Given the description of an element on the screen output the (x, y) to click on. 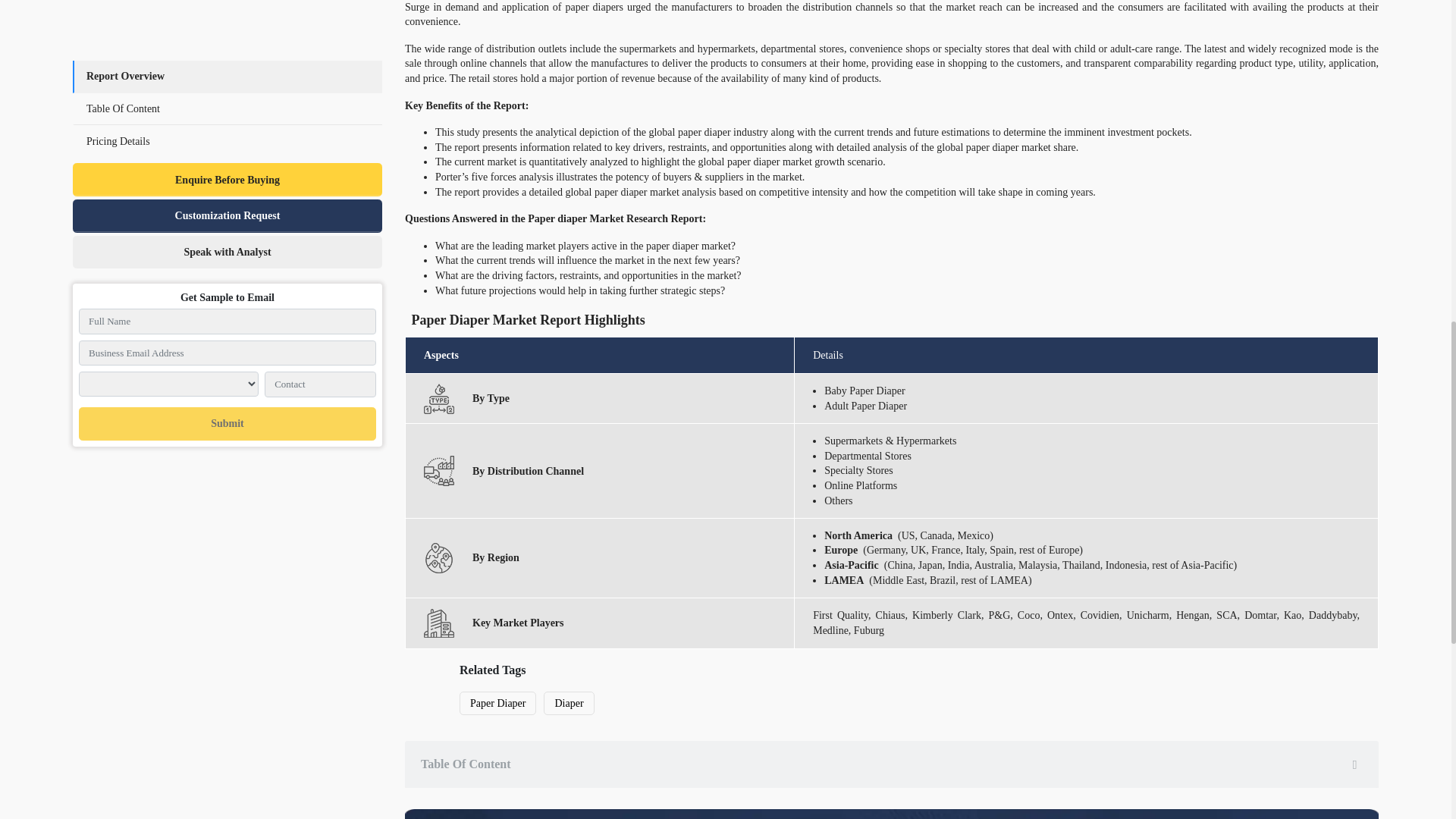
Paper Diaper Market By Distribution Channel (438, 470)
Paper Diaper Market By Type (438, 399)
Table Of Content (891, 764)
Key Market Players (438, 623)
Paper Diaper (497, 701)
Paper Diaper Market By Region (438, 557)
Diaper (568, 701)
